Given the description of an element on the screen output the (x, y) to click on. 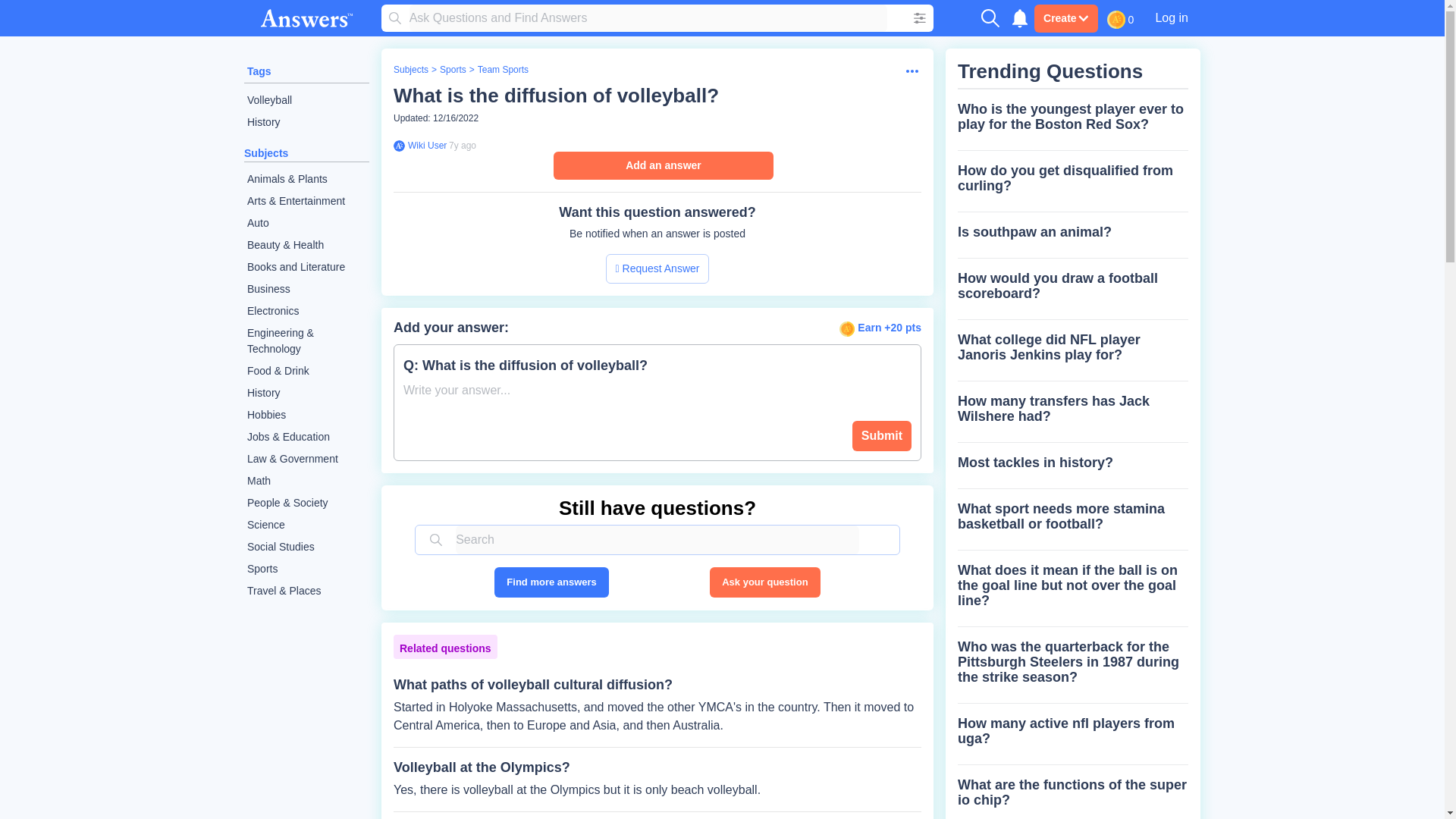
Find more answers (551, 582)
Team Sports (502, 69)
Log in (1170, 17)
Science (306, 525)
What is the diffusion of volleyball? (556, 95)
Subjects (266, 152)
Business (306, 289)
Create (1065, 18)
Add an answer (663, 165)
Subjects (410, 69)
